Given the description of an element on the screen output the (x, y) to click on. 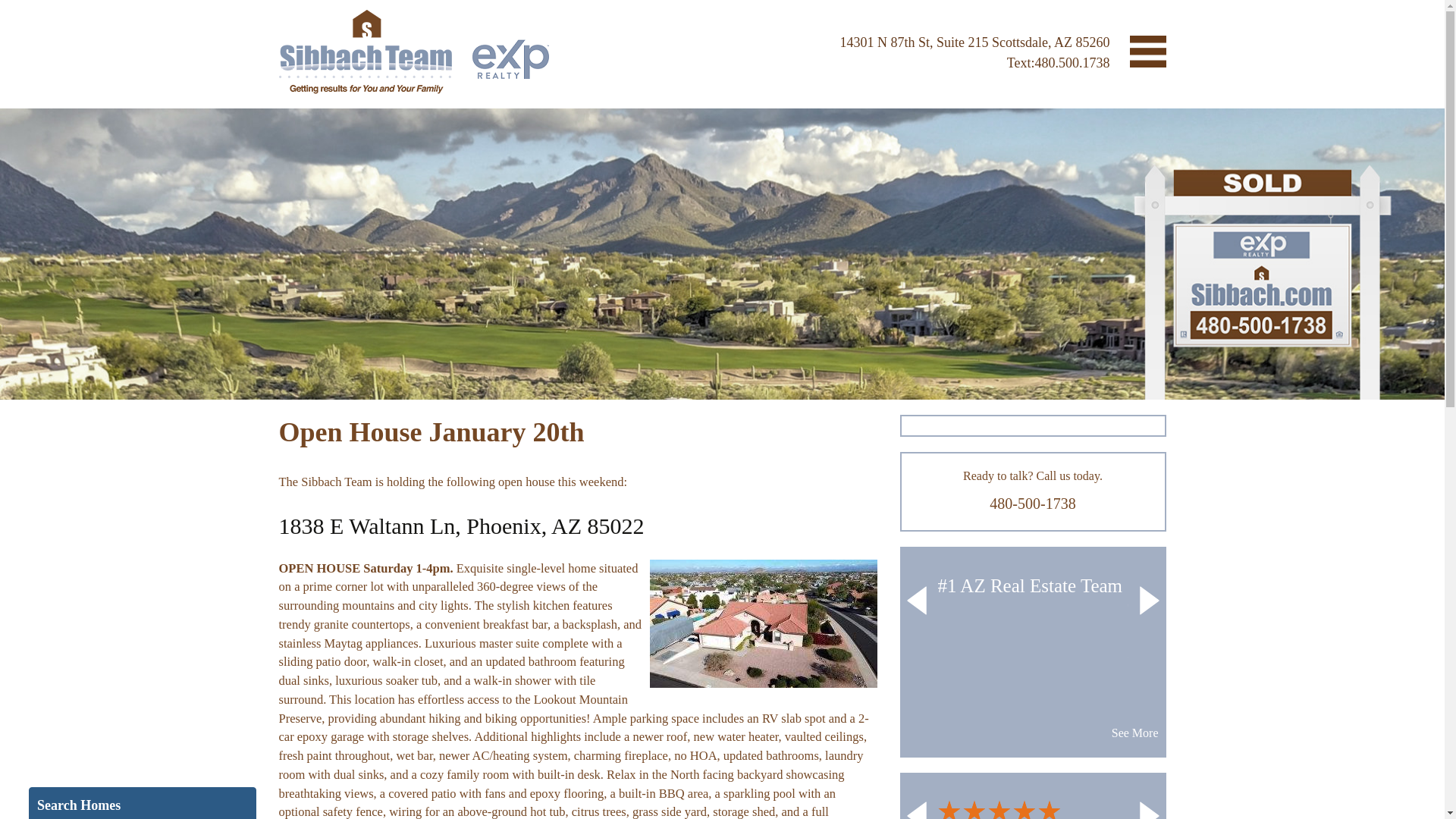
480.500.1738 (1071, 62)
